Given the description of an element on the screen output the (x, y) to click on. 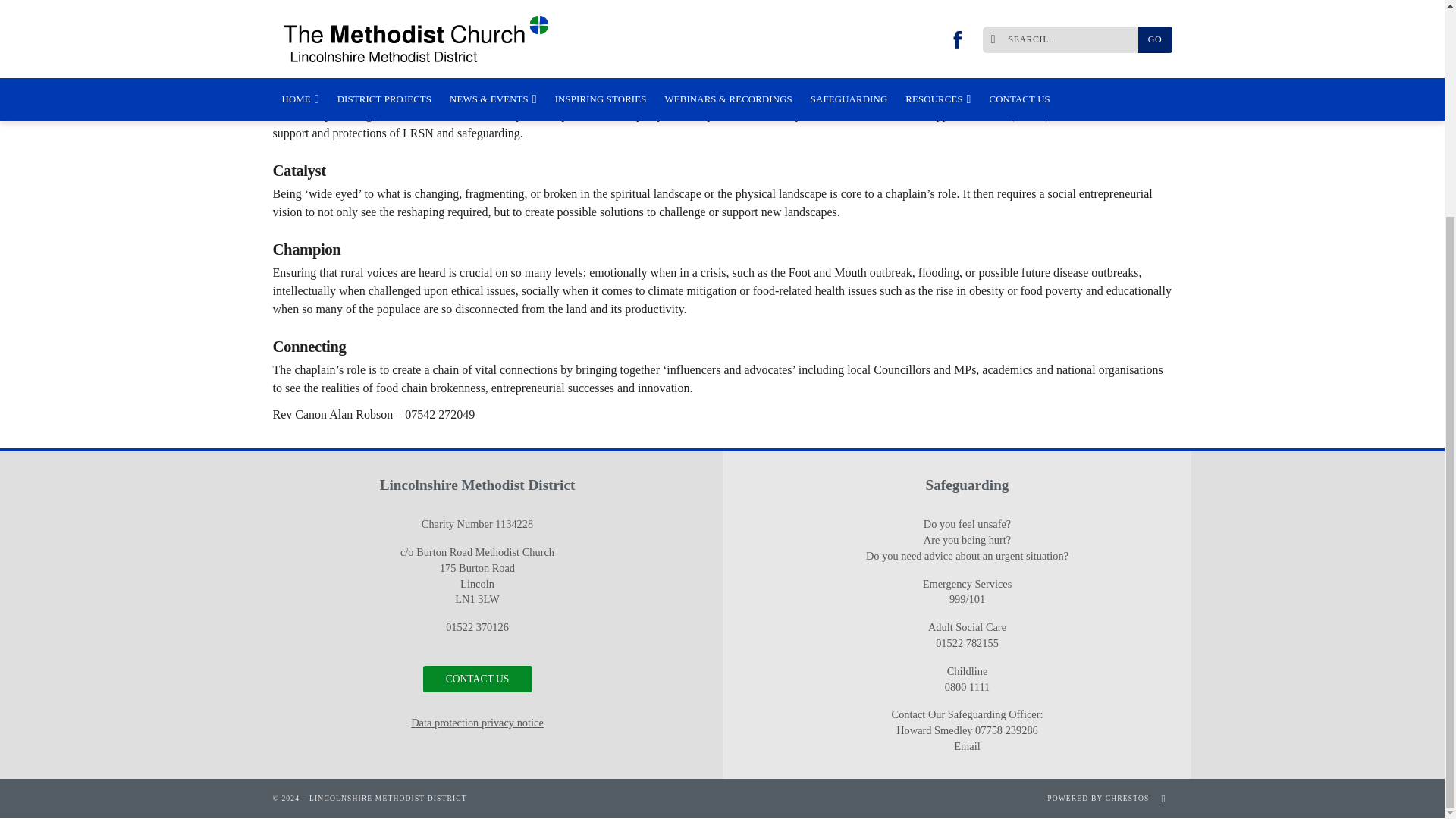
Email (966, 746)
Download: Host a Country Mile Coffee Morning (1046, 63)
Country Mile Coffee Morning (1046, 63)
Data protection privacy notice (476, 722)
CONTACT US (477, 678)
